Given the description of an element on the screen output the (x, y) to click on. 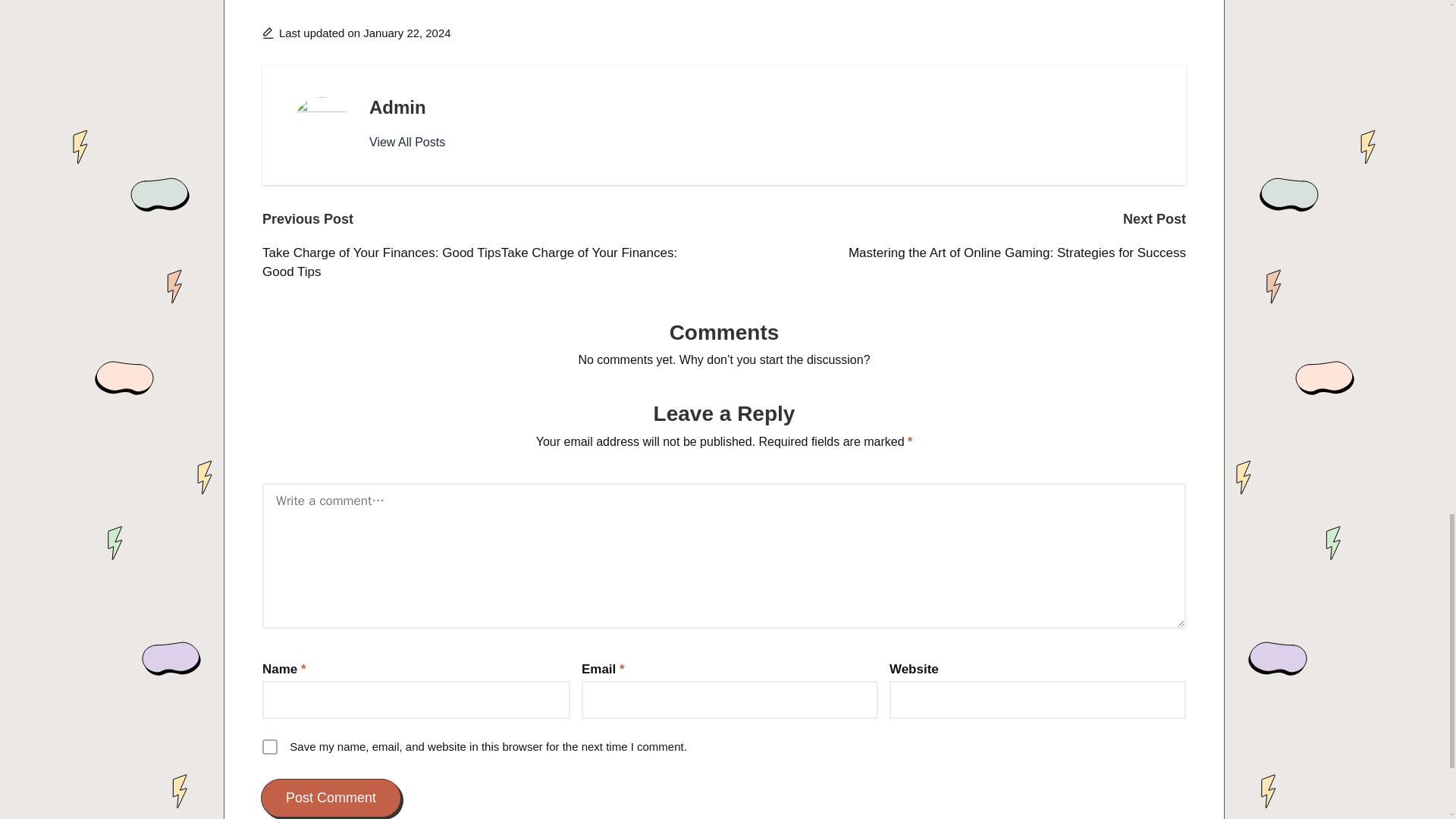
Mastering the Art of Online Gaming: Strategies for Success (954, 252)
Post Comment (330, 797)
Admin (397, 107)
Post Comment (330, 797)
View All Posts (407, 142)
yes (270, 746)
